Given the description of an element on the screen output the (x, y) to click on. 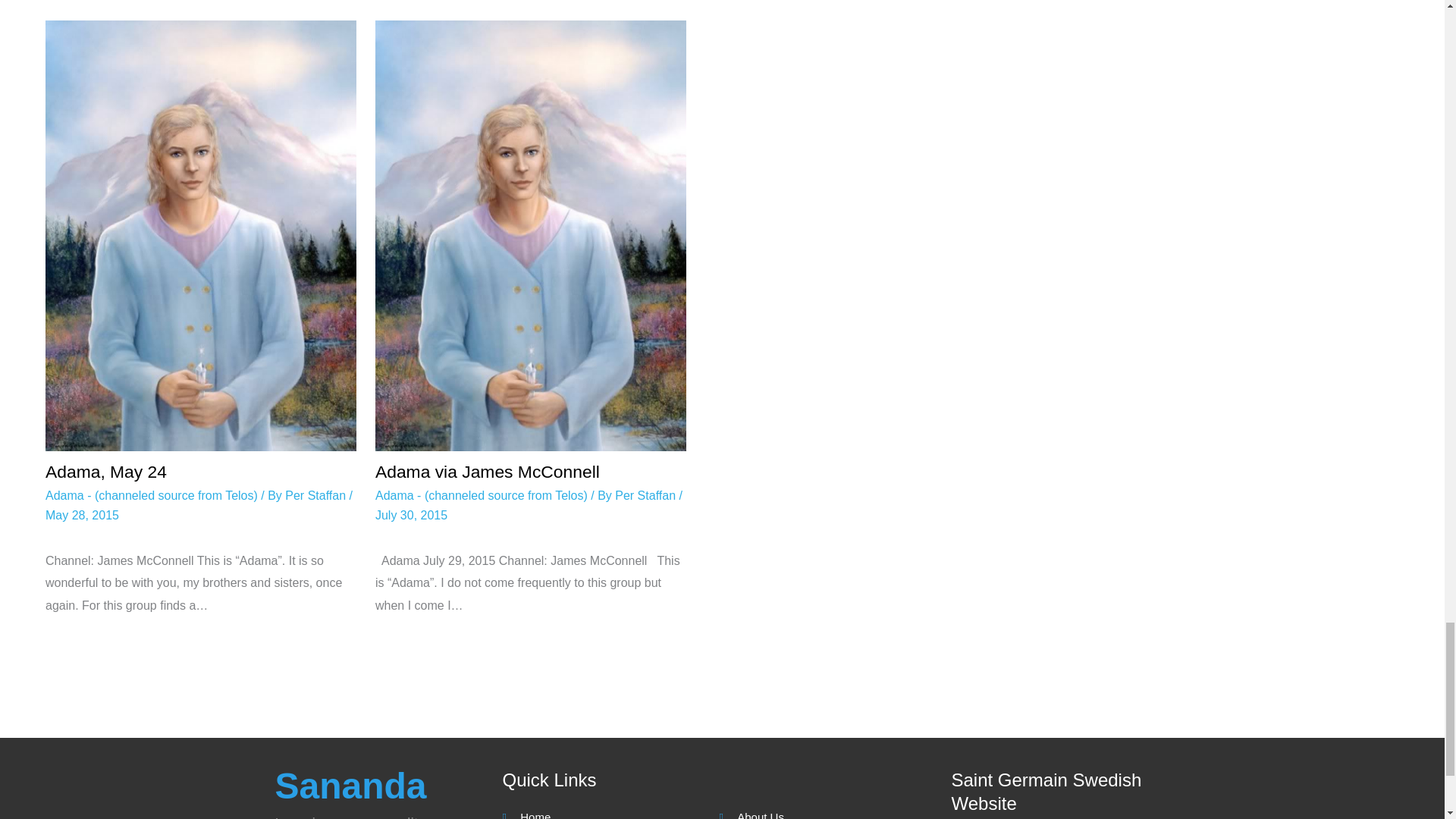
Per Staffan (317, 495)
Adama, May 24 (106, 471)
Adama via James McConnell (487, 471)
View all posts by Per Staffan (646, 495)
Per Staffan (646, 495)
View all posts by Per Staffan (317, 495)
